Given the description of an element on the screen output the (x, y) to click on. 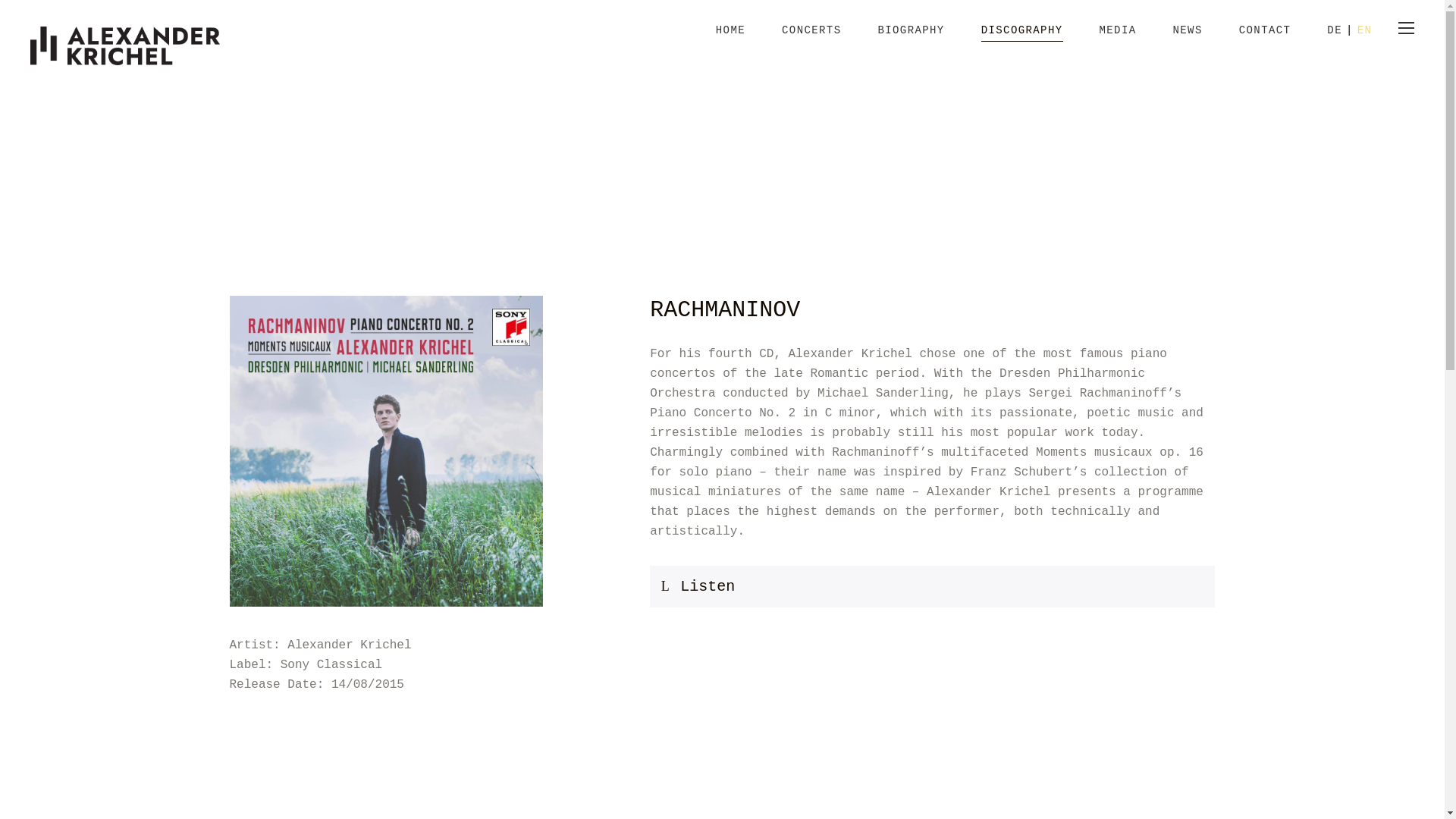
DISCOGRAPHY (1021, 38)
CONTACT (1264, 38)
CONCERTS (810, 38)
BIOGRAPHY (910, 38)
MEDIA (1117, 38)
